Given the description of an element on the screen output the (x, y) to click on. 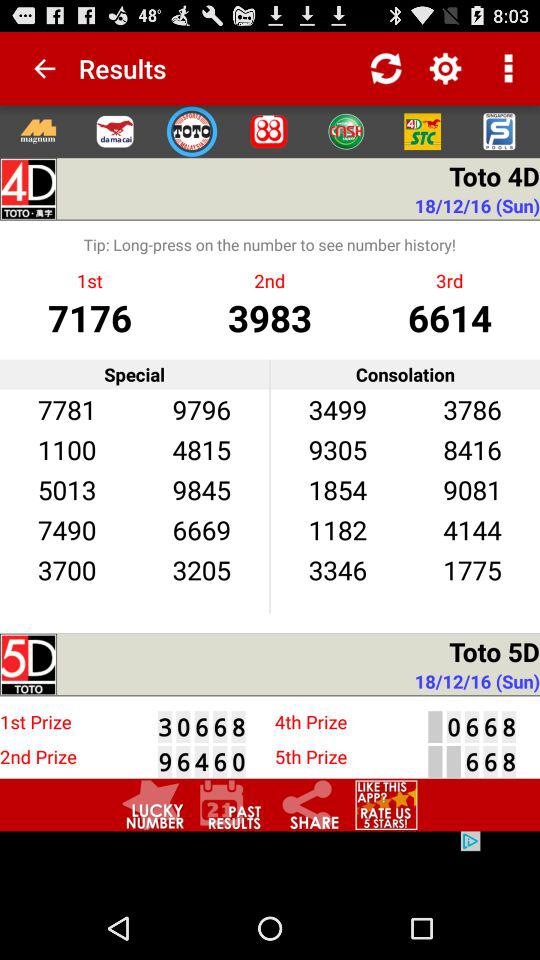
view results for cash sweep (345, 131)
